Given the description of an element on the screen output the (x, y) to click on. 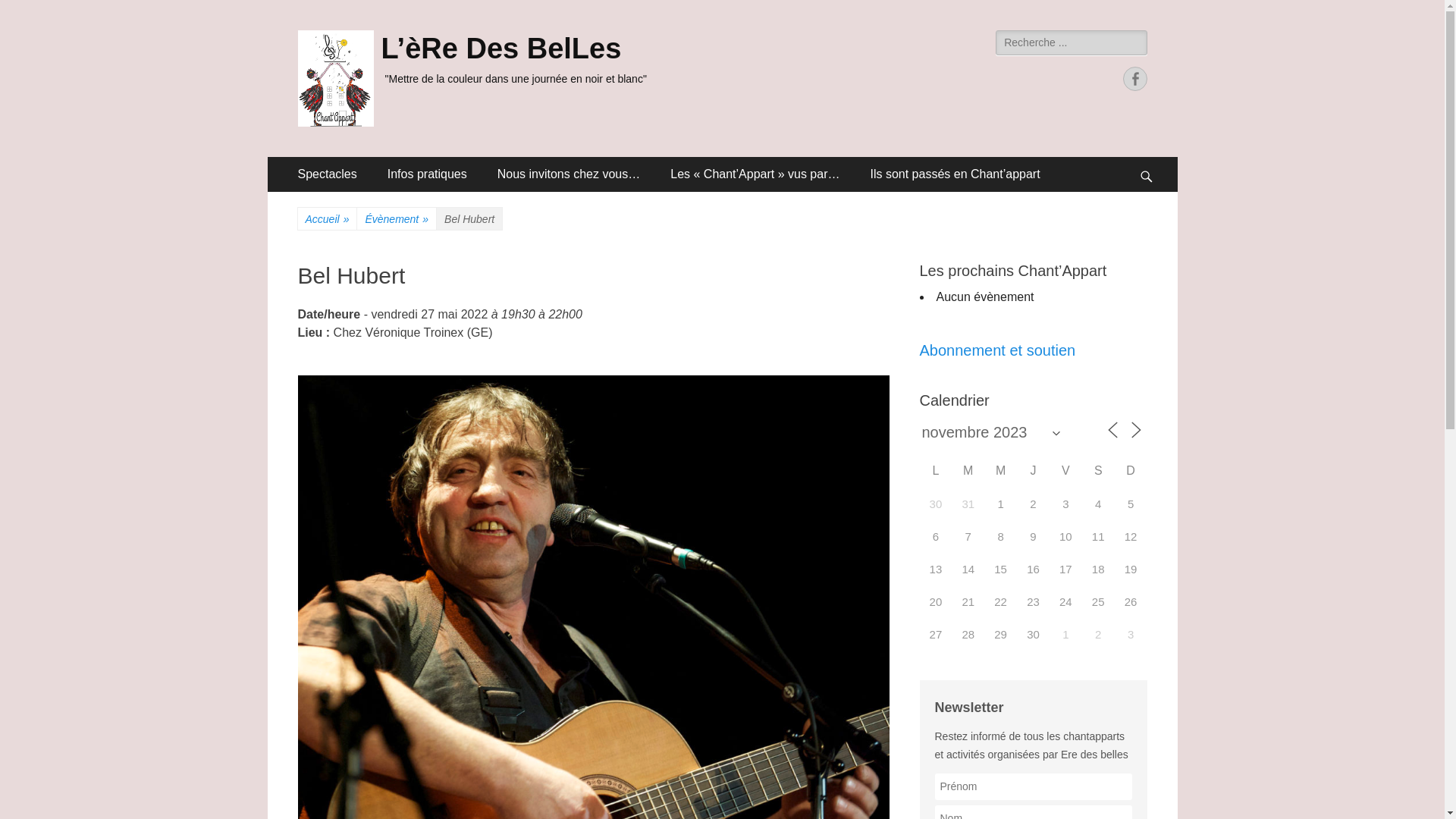
Recherche Element type: text (31, 9)
Spectacles Element type: text (326, 173)
Facebook Element type: text (1134, 78)
Recherche pour: Element type: hover (1070, 42)
Infos pratiques Element type: text (427, 173)
Search Element type: text (1152, 156)
Abonnement et soutien Element type: text (997, 350)
